Given the description of an element on the screen output the (x, y) to click on. 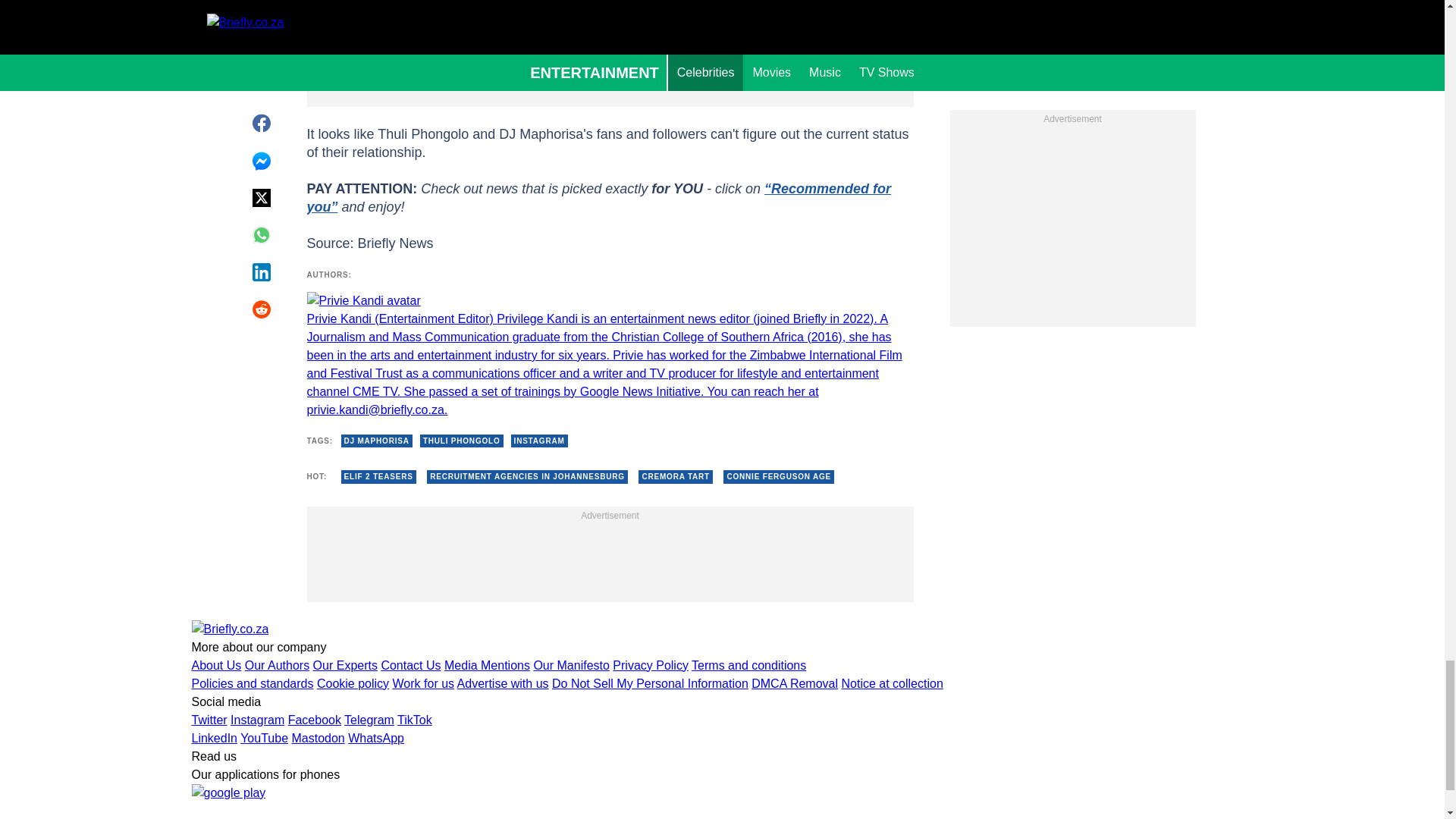
Author page (608, 355)
